Given the description of an element on the screen output the (x, y) to click on. 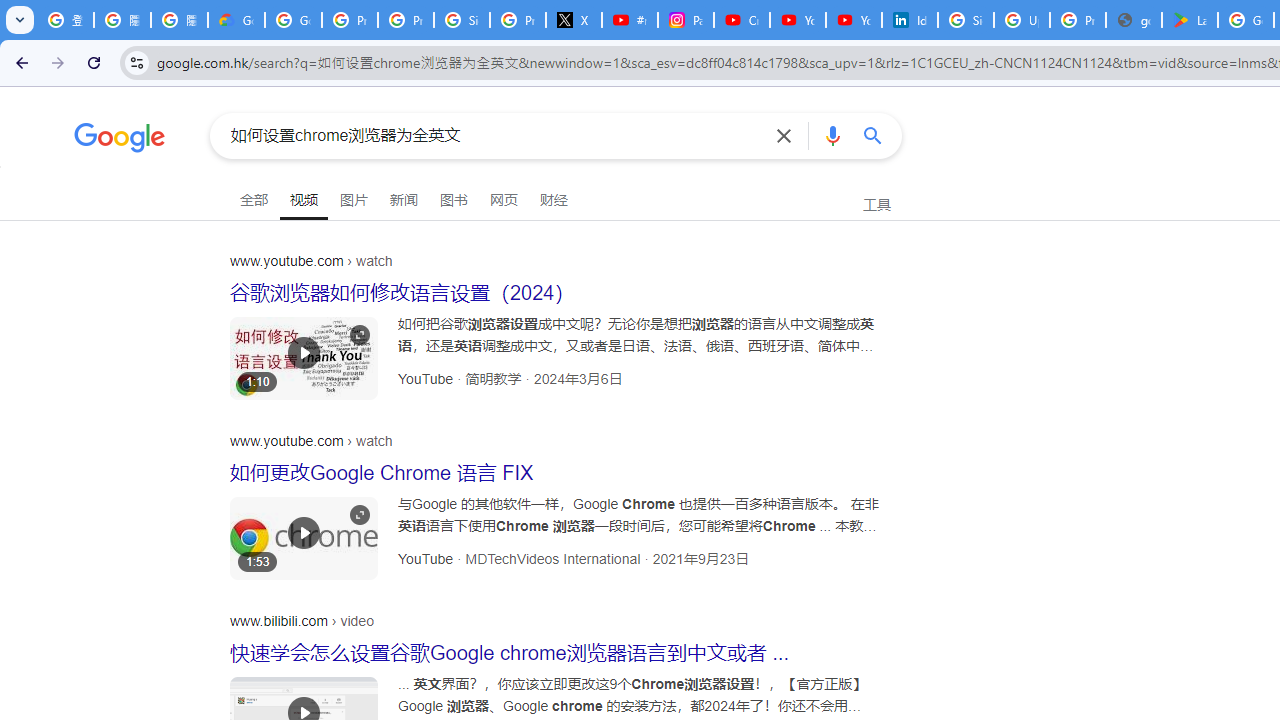
YouTube Culture & Trends - YouTube Top 10, 2021 (853, 20)
#nbabasketballhighlights - YouTube (629, 20)
